Given the description of an element on the screen output the (x, y) to click on. 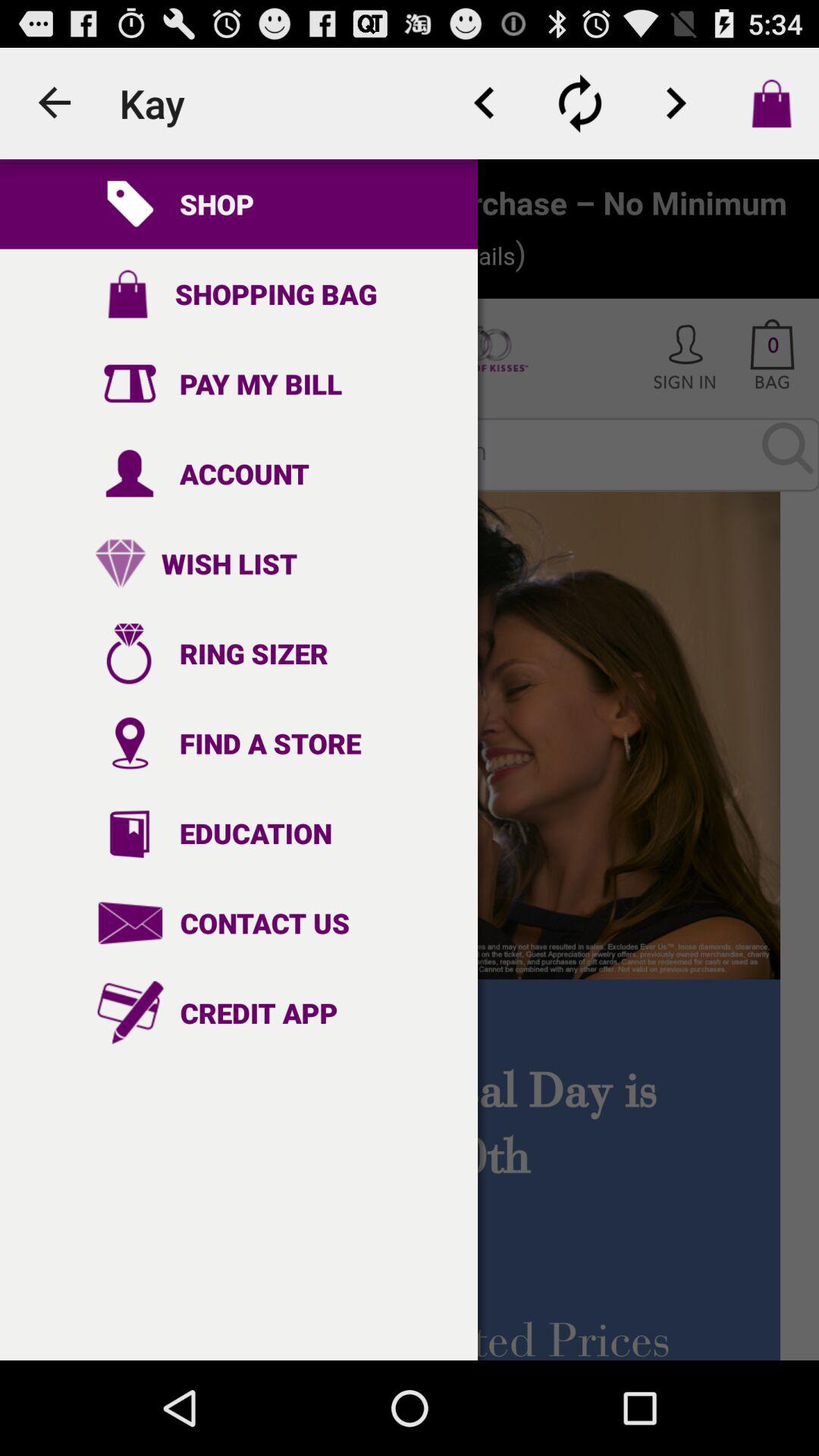
interactive menu for page with several options (409, 759)
